Given the description of an element on the screen output the (x, y) to click on. 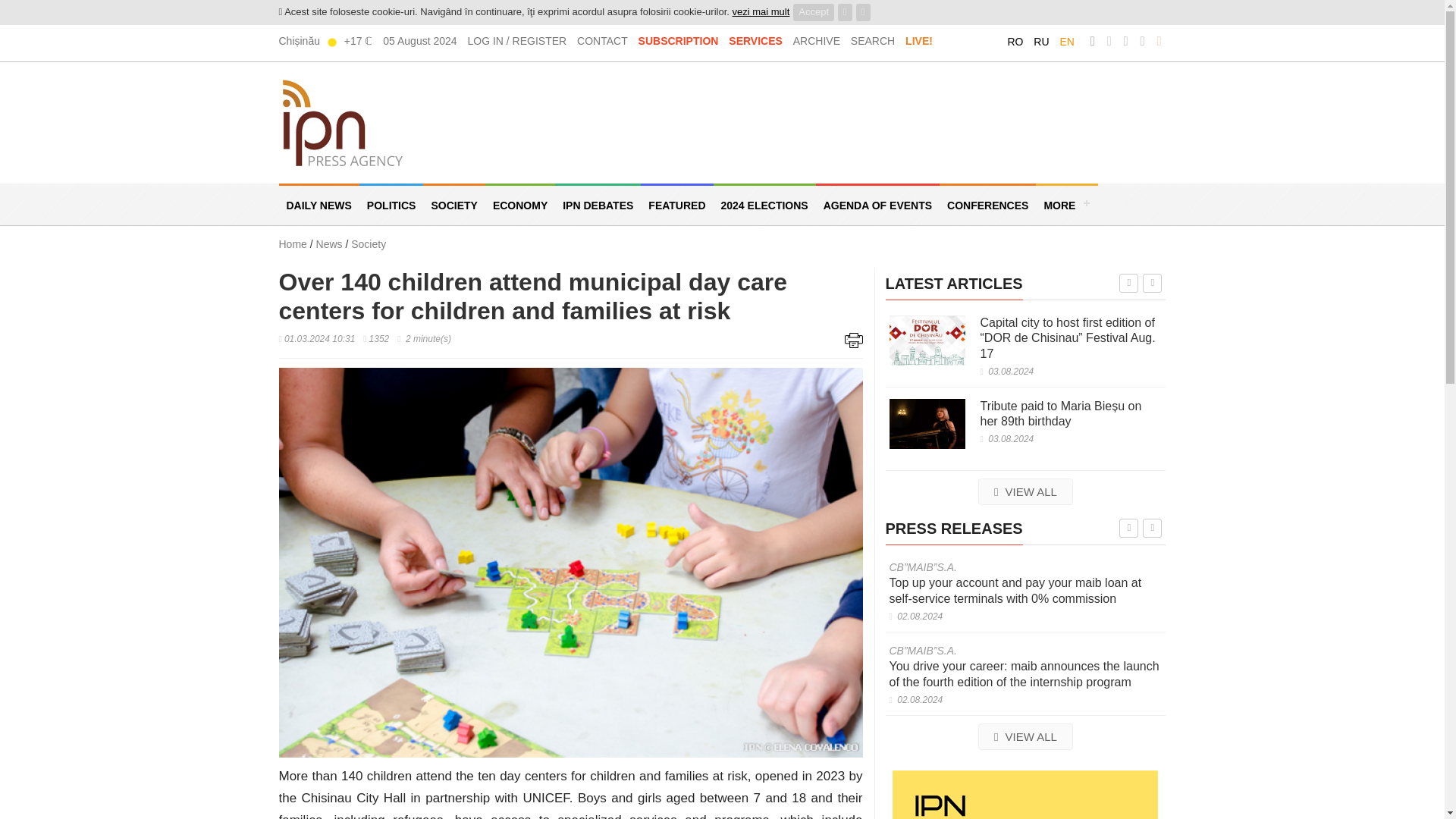
ECONOMY (519, 204)
SUBSCRIPTION (679, 41)
SERVICES (756, 41)
facebook (1092, 41)
RO (1015, 41)
LIVE! (919, 41)
ARCHIVE (816, 41)
MORE (1066, 204)
CONTACT (601, 41)
Reading time (424, 338)
FEATURED (676, 204)
SOCIETY (453, 204)
CONFERENCES (987, 204)
youtube (1142, 41)
POLITICS (391, 204)
